Given the description of an element on the screen output the (x, y) to click on. 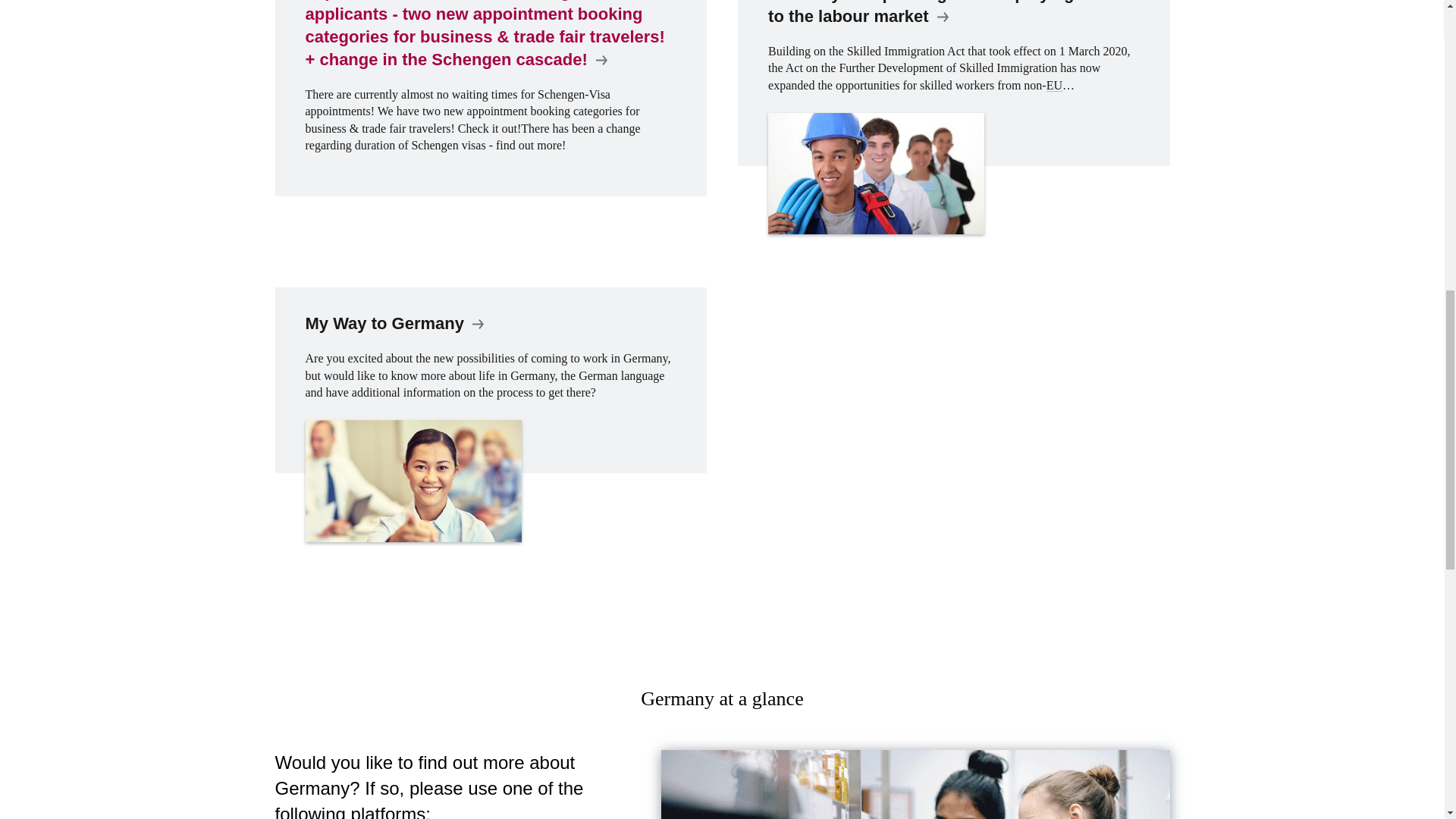
My Way to Germany (490, 440)
European Union (1054, 84)
